Given the description of an element on the screen output the (x, y) to click on. 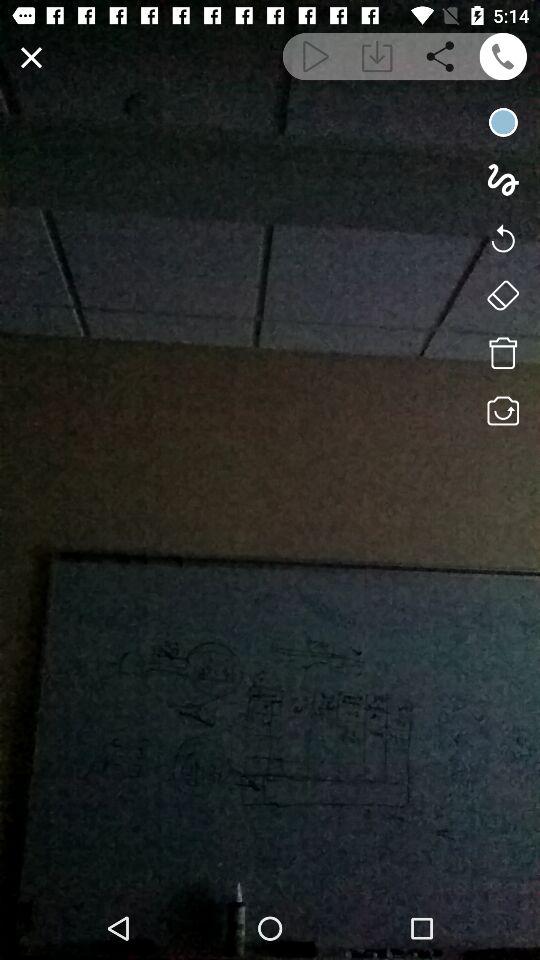
undo (502, 237)
